Given the description of an element on the screen output the (x, y) to click on. 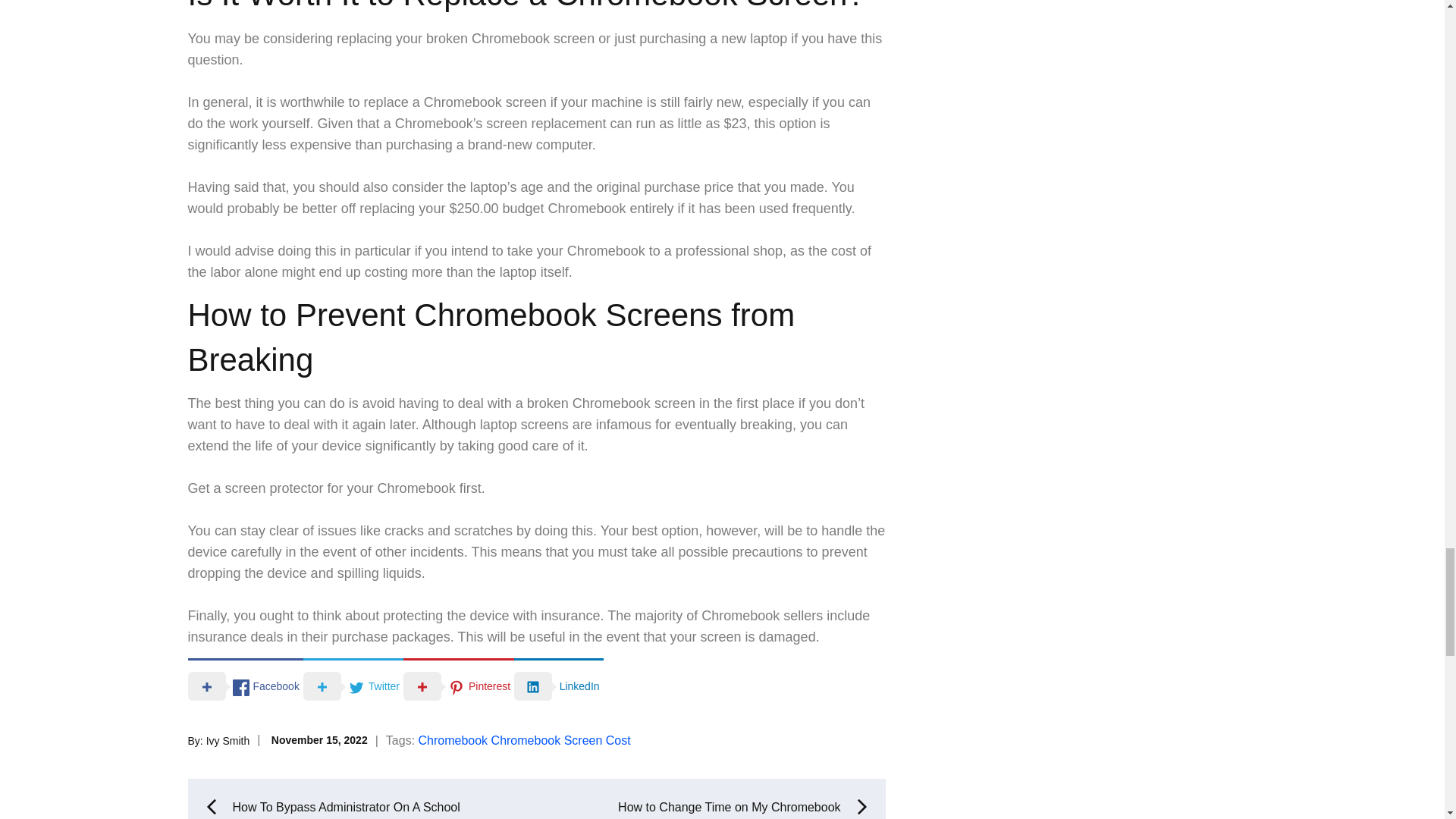
LinkedIn (557, 684)
November 15, 2022 (319, 739)
Facebook (244, 684)
Pinterest (458, 684)
Twitter (352, 684)
Ivy Smith (228, 740)
